Given the description of an element on the screen output the (x, y) to click on. 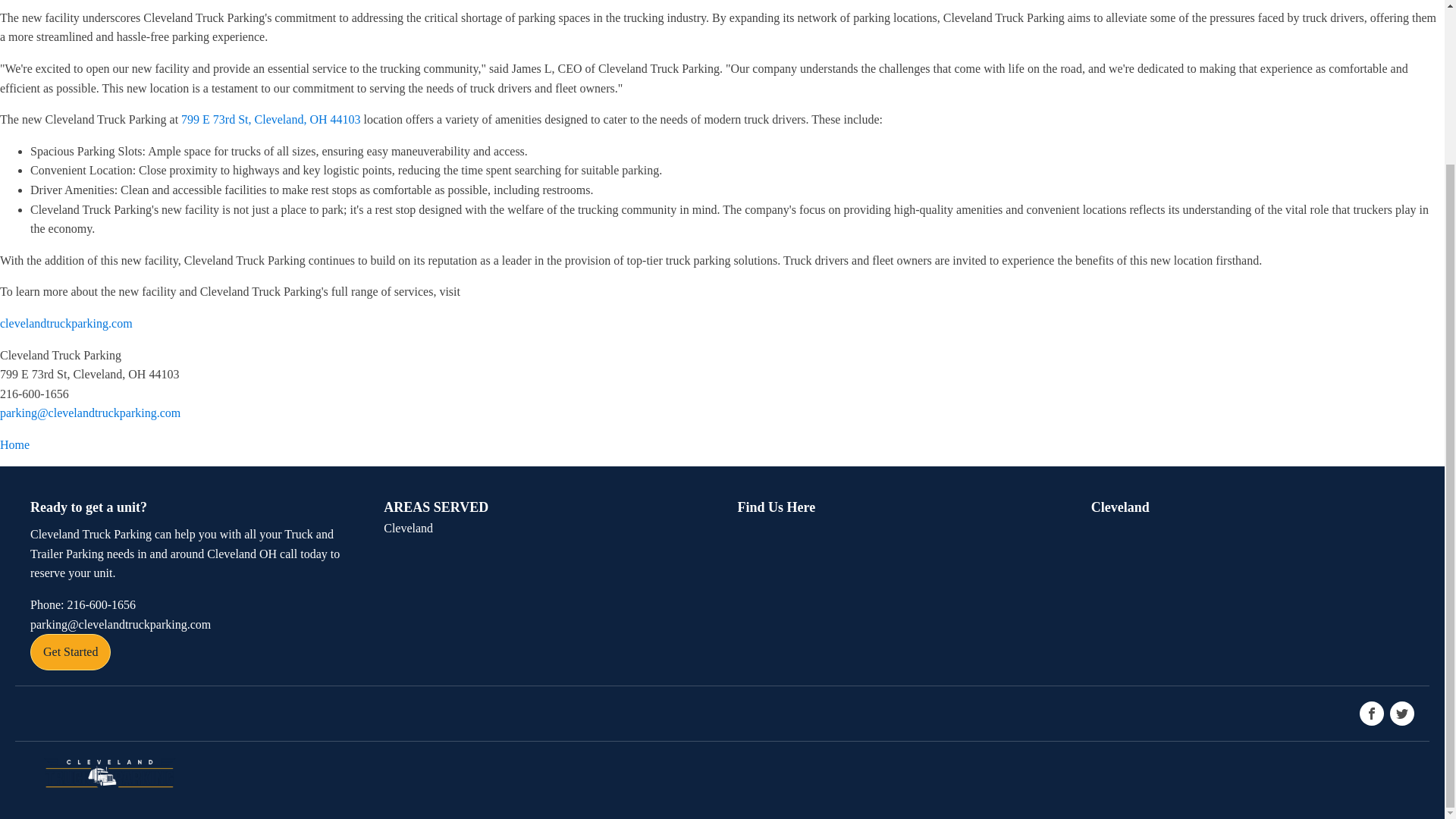
clevelandtruckparking.com (66, 323)
Get Started (70, 651)
Home (14, 444)
 216-600-1656 (82, 605)
799 E 73rd St, Cleveland, OH 44103 (269, 119)
Cleveland (408, 528)
